Given the description of an element on the screen output the (x, y) to click on. 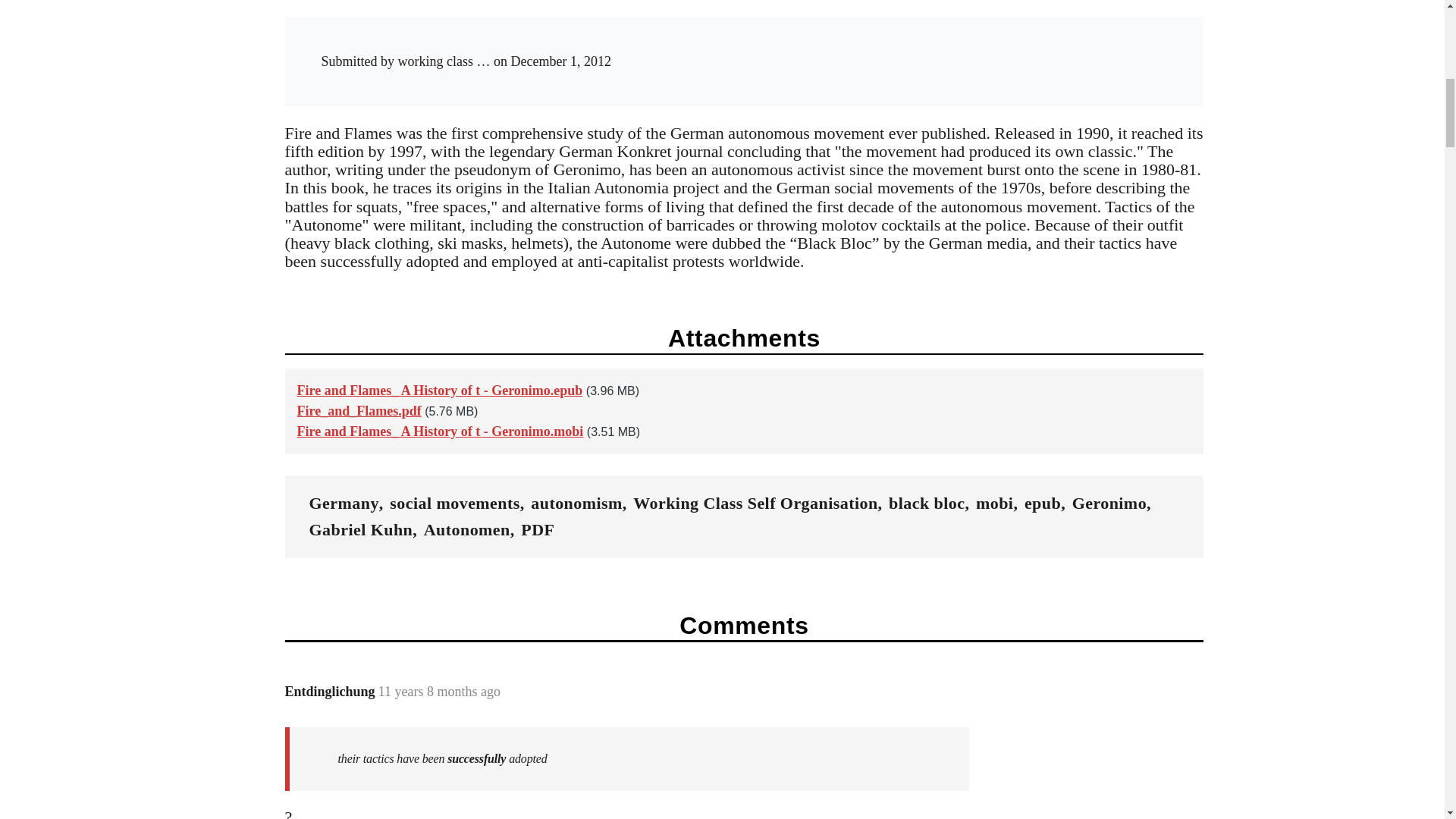
social movements (454, 503)
black bloc (925, 503)
Share to Twitter (945, 46)
Working Class Self Organisation (755, 503)
Autonomen (467, 529)
autonomism (577, 503)
Share to Reddit (975, 46)
epub (1043, 503)
Gabriel Kuhn (360, 529)
PDF (537, 529)
Geronimo (1109, 503)
Germany (343, 503)
mobi (994, 503)
Share to Facebook (914, 46)
